Given the description of an element on the screen output the (x, y) to click on. 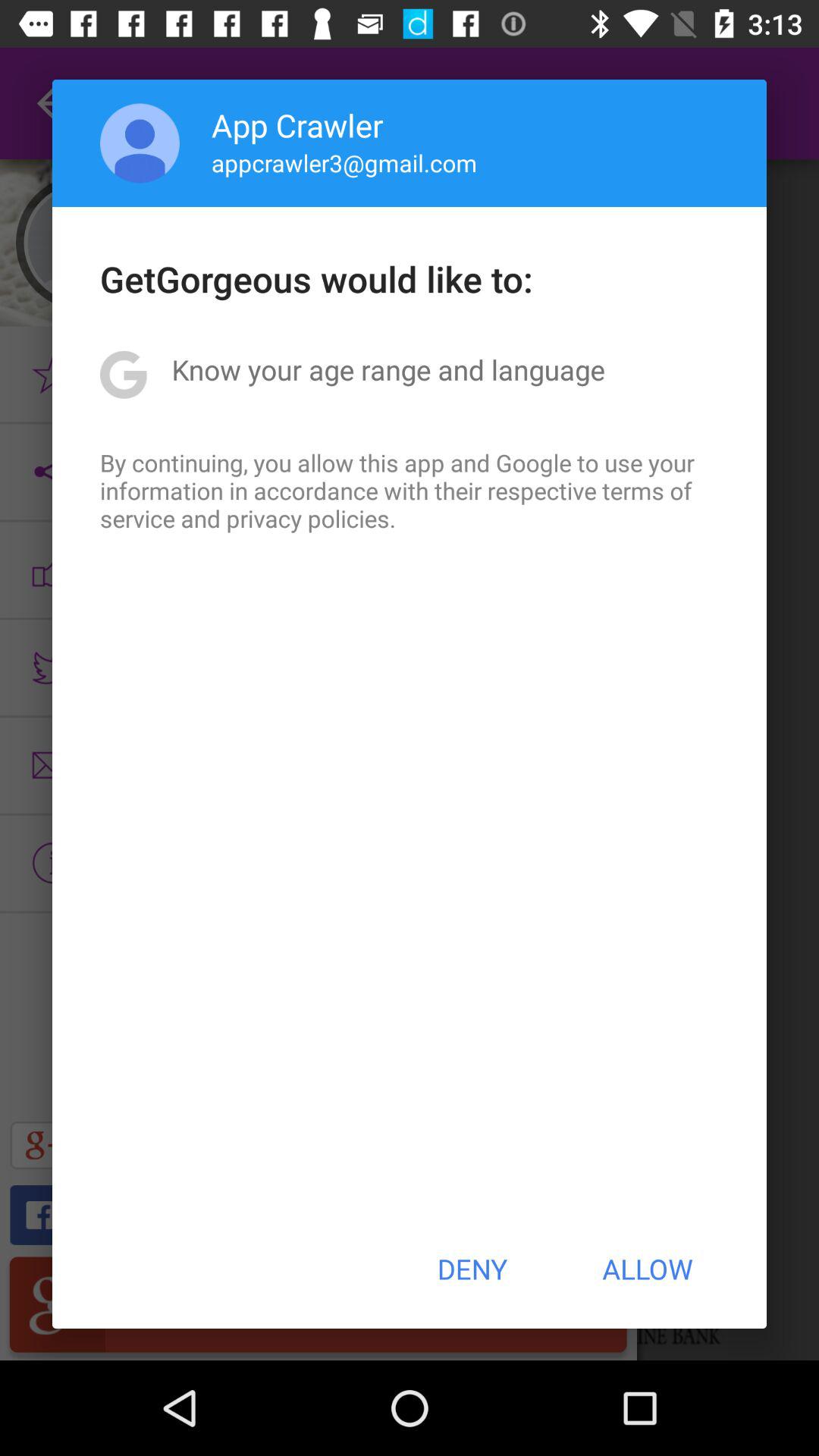
turn off the app crawler app (297, 124)
